Given the description of an element on the screen output the (x, y) to click on. 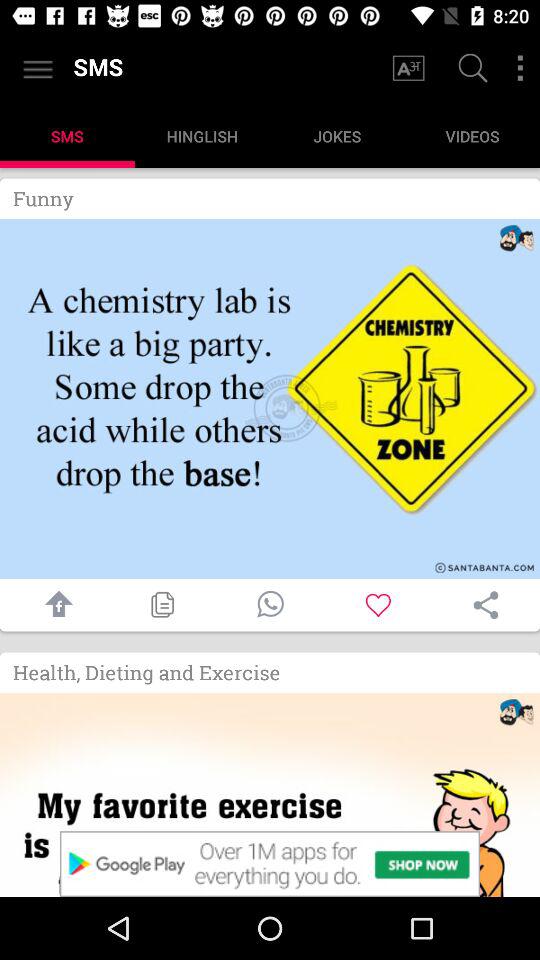
advertisements (270, 864)
